Given the description of an element on the screen output the (x, y) to click on. 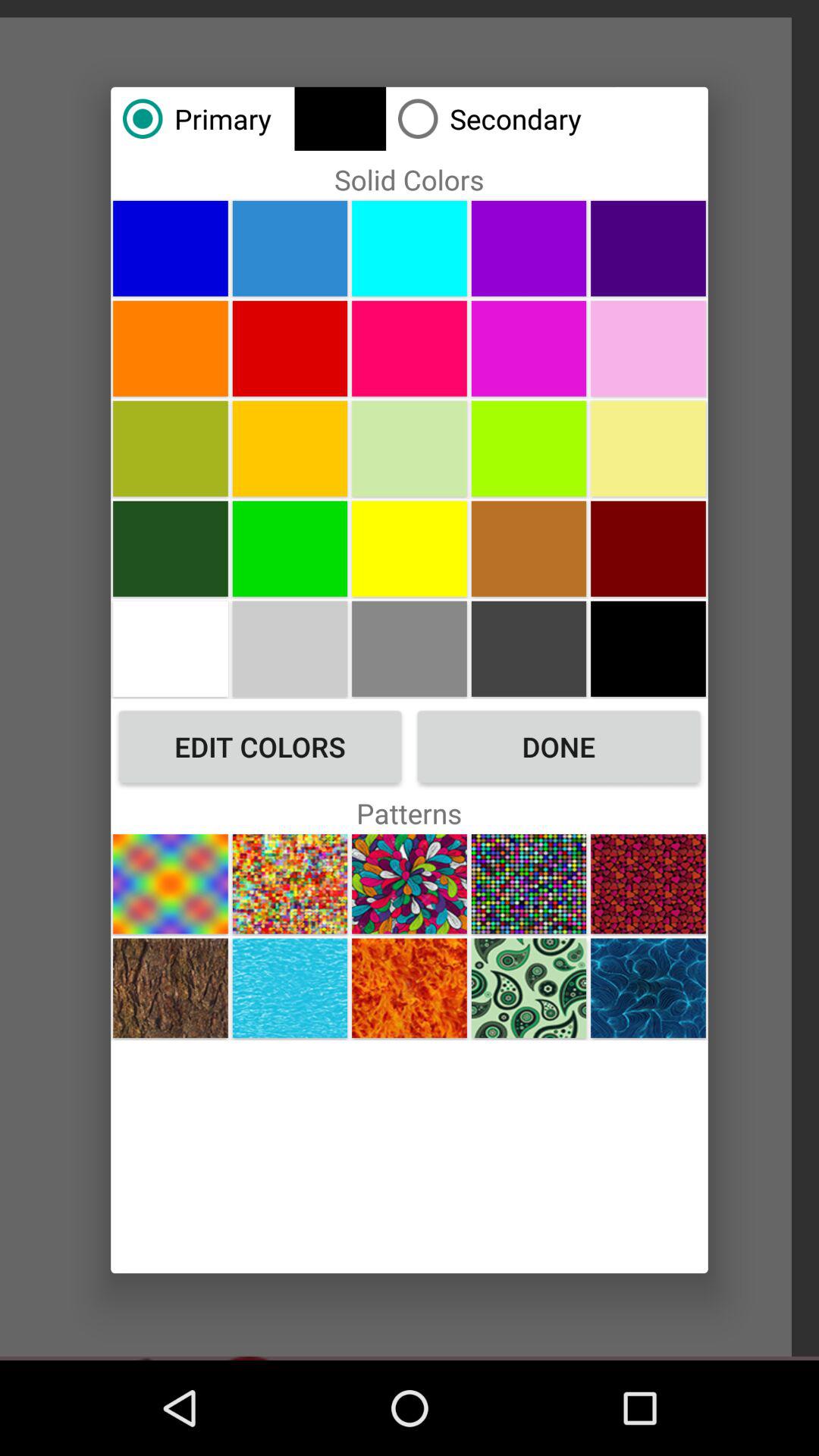
select this color (528, 348)
